Given the description of an element on the screen output the (x, y) to click on. 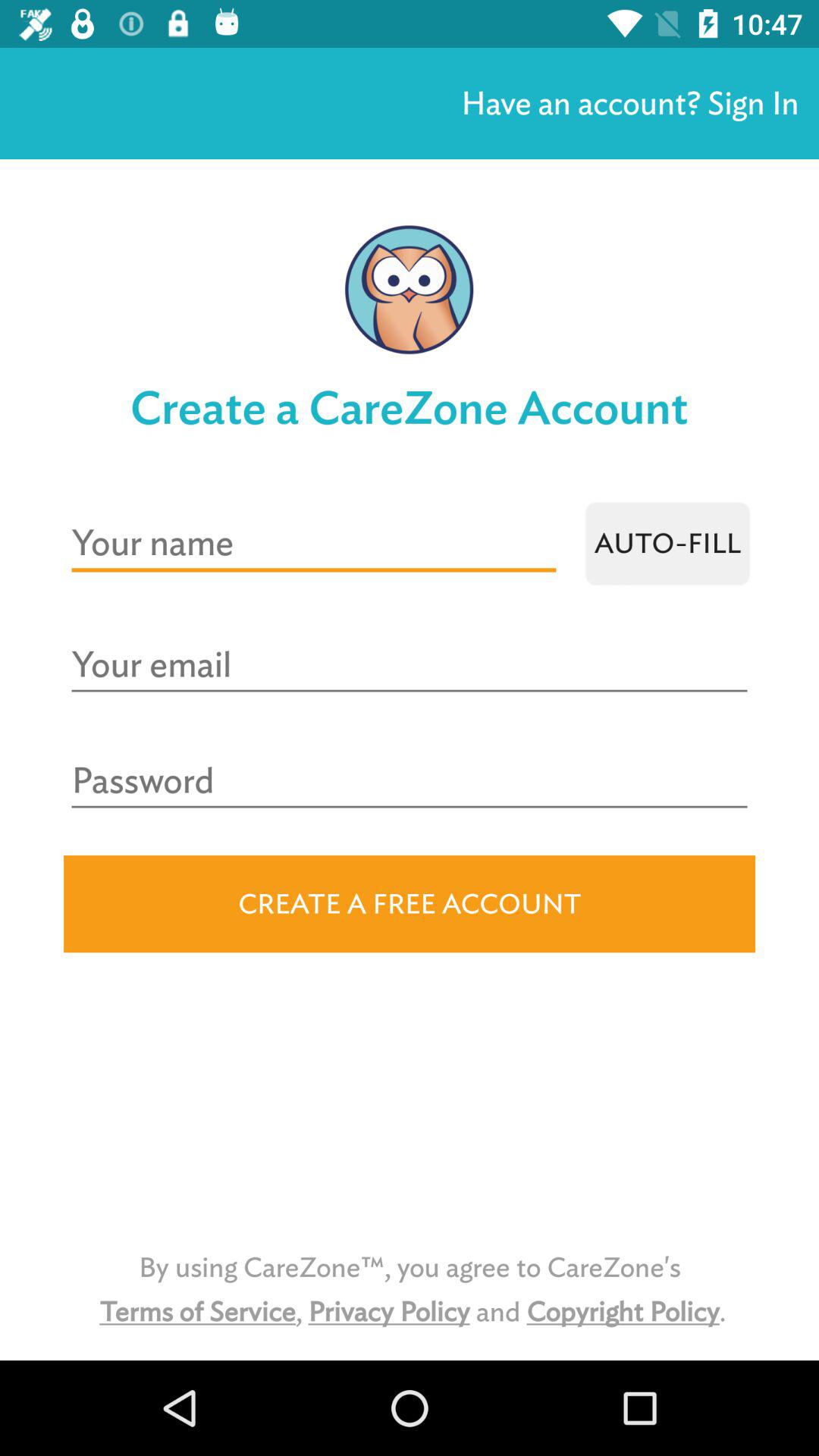
jump until auto-fill (667, 543)
